Given the description of an element on the screen output the (x, y) to click on. 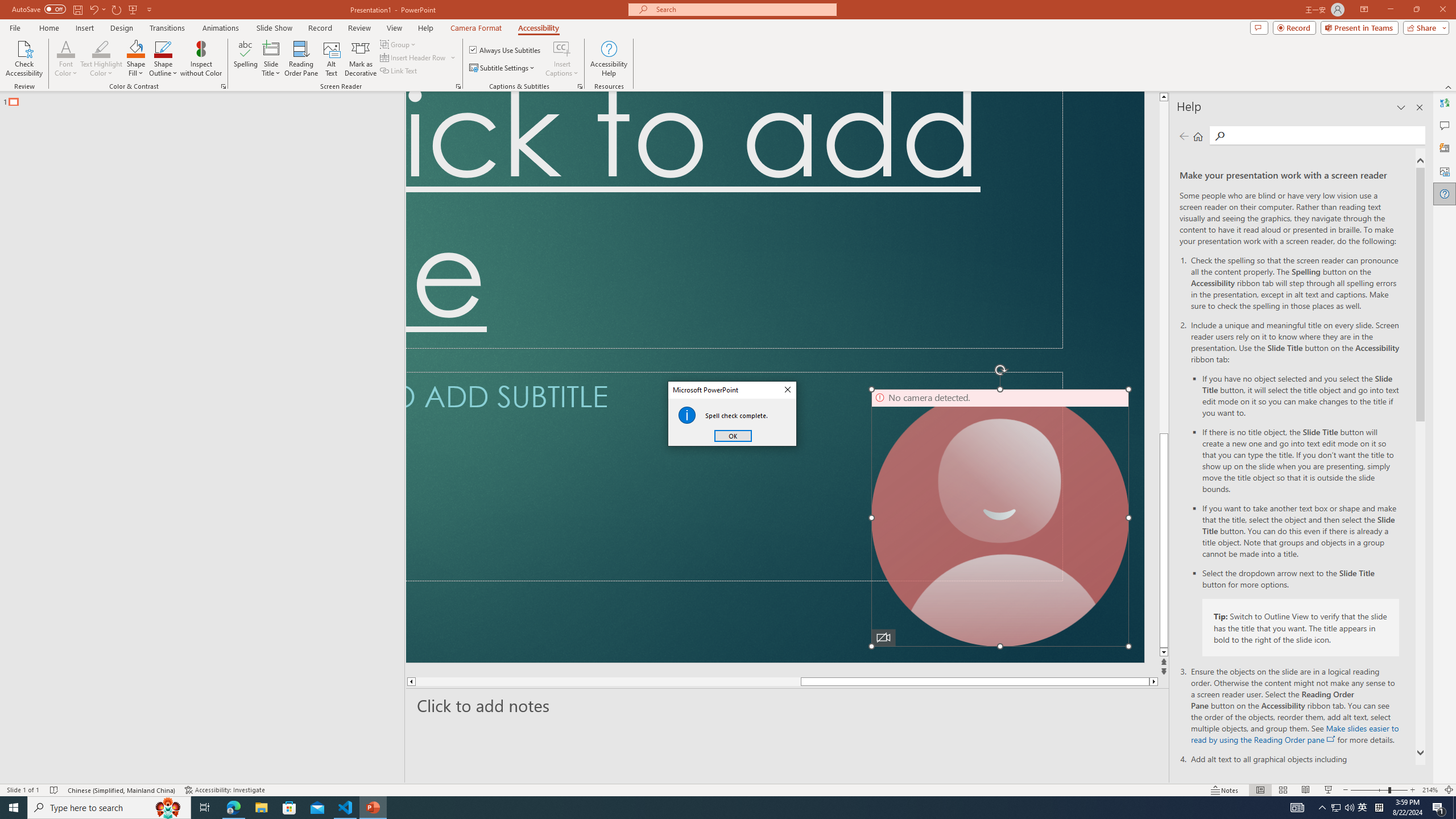
Options (59, 753)
New (59, 118)
Notion (917, 800)
